Given the description of an element on the screen output the (x, y) to click on. 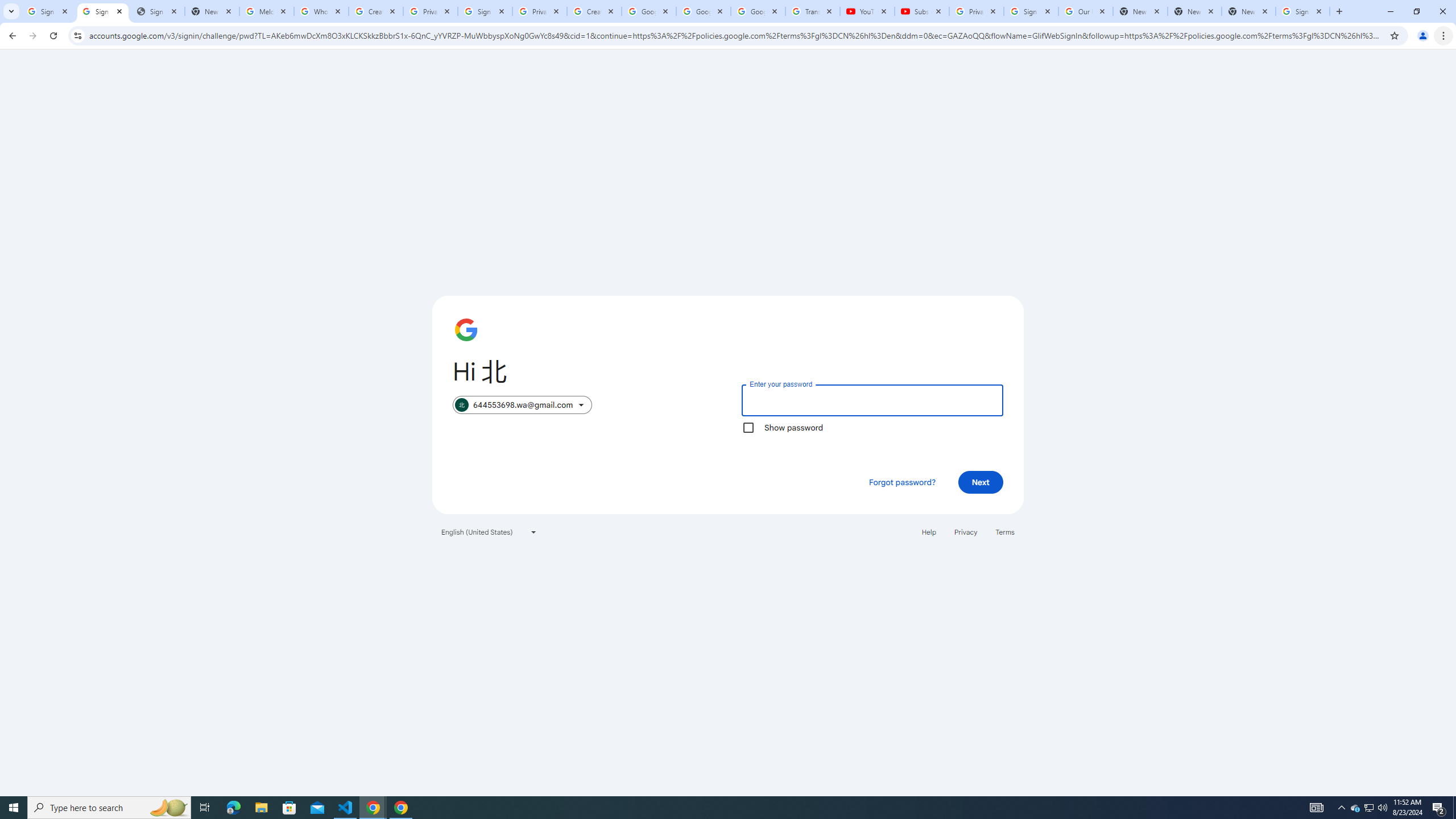
English (United States) (489, 531)
644553698.wa@gmail.com selected. Switch account (522, 404)
Create your Google Account (375, 11)
YouTube (866, 11)
Sign in - Google Accounts (1303, 11)
